Given the description of an element on the screen output the (x, y) to click on. 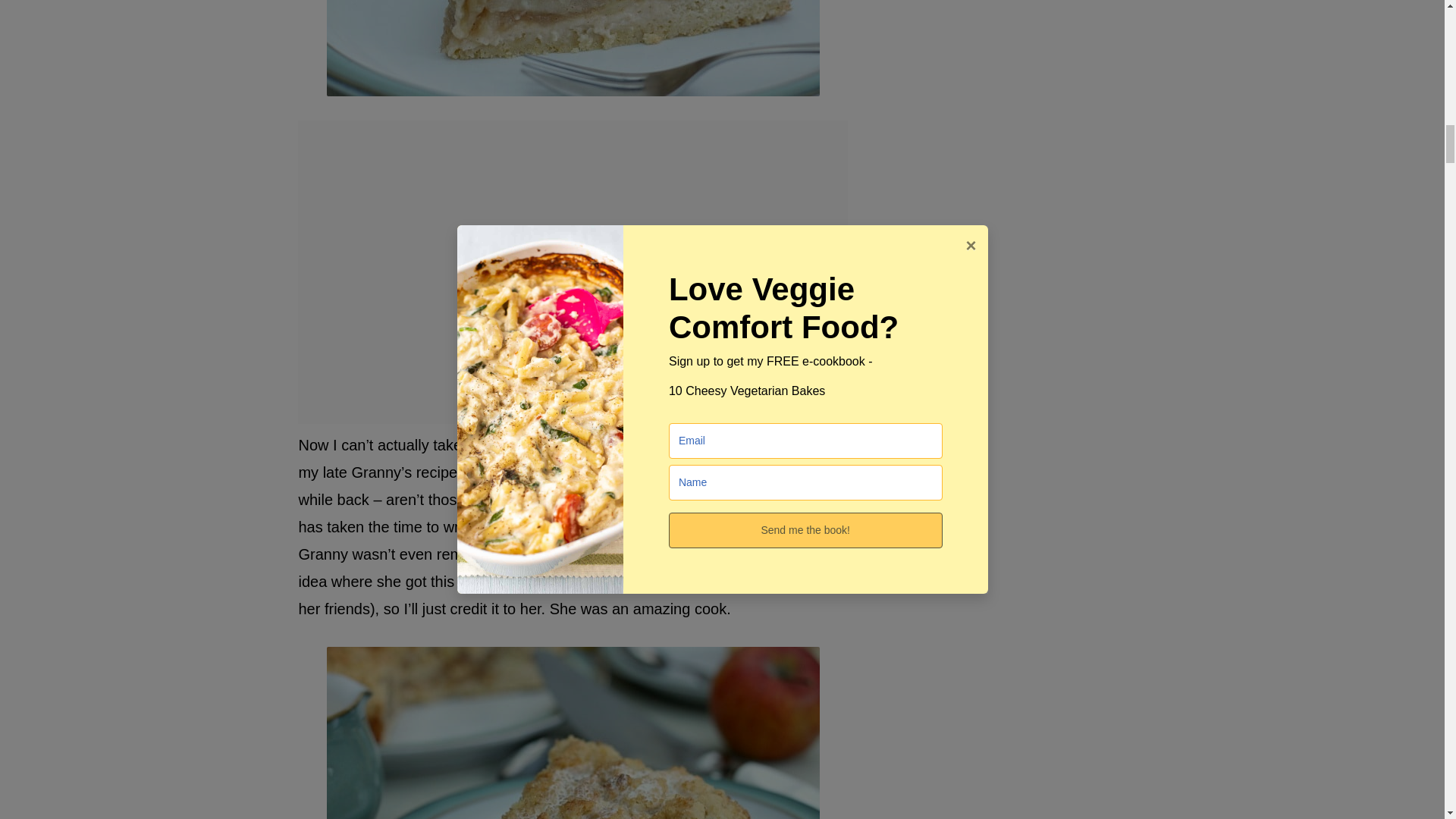
Apple crumble cake (572, 48)
Apple crumble cake (572, 733)
